Given the description of an element on the screen output the (x, y) to click on. 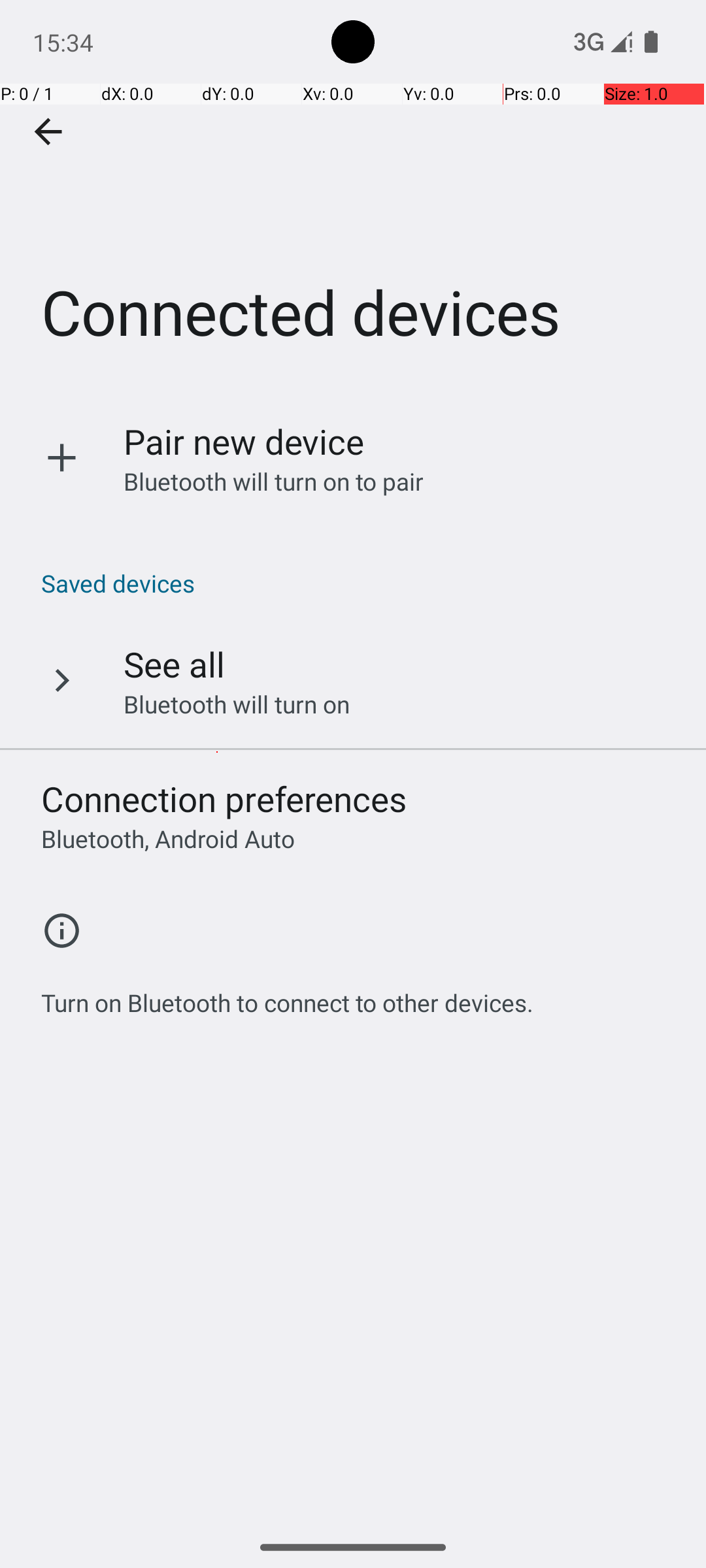
Pair new device Element type: android.widget.TextView (243, 441)
Bluetooth will turn on to pair Element type: android.widget.TextView (273, 480)
Saved devices Element type: android.widget.TextView (359, 582)
See all Element type: android.widget.TextView (173, 663)
Bluetooth will turn on Element type: android.widget.TextView (236, 703)
Connection preferences Element type: android.widget.TextView (224, 798)
Bluetooth, Android Auto Element type: android.widget.TextView (167, 838)
Turn on Bluetooth to connect to other devices. Element type: android.widget.TextView (287, 995)
